Given the description of an element on the screen output the (x, y) to click on. 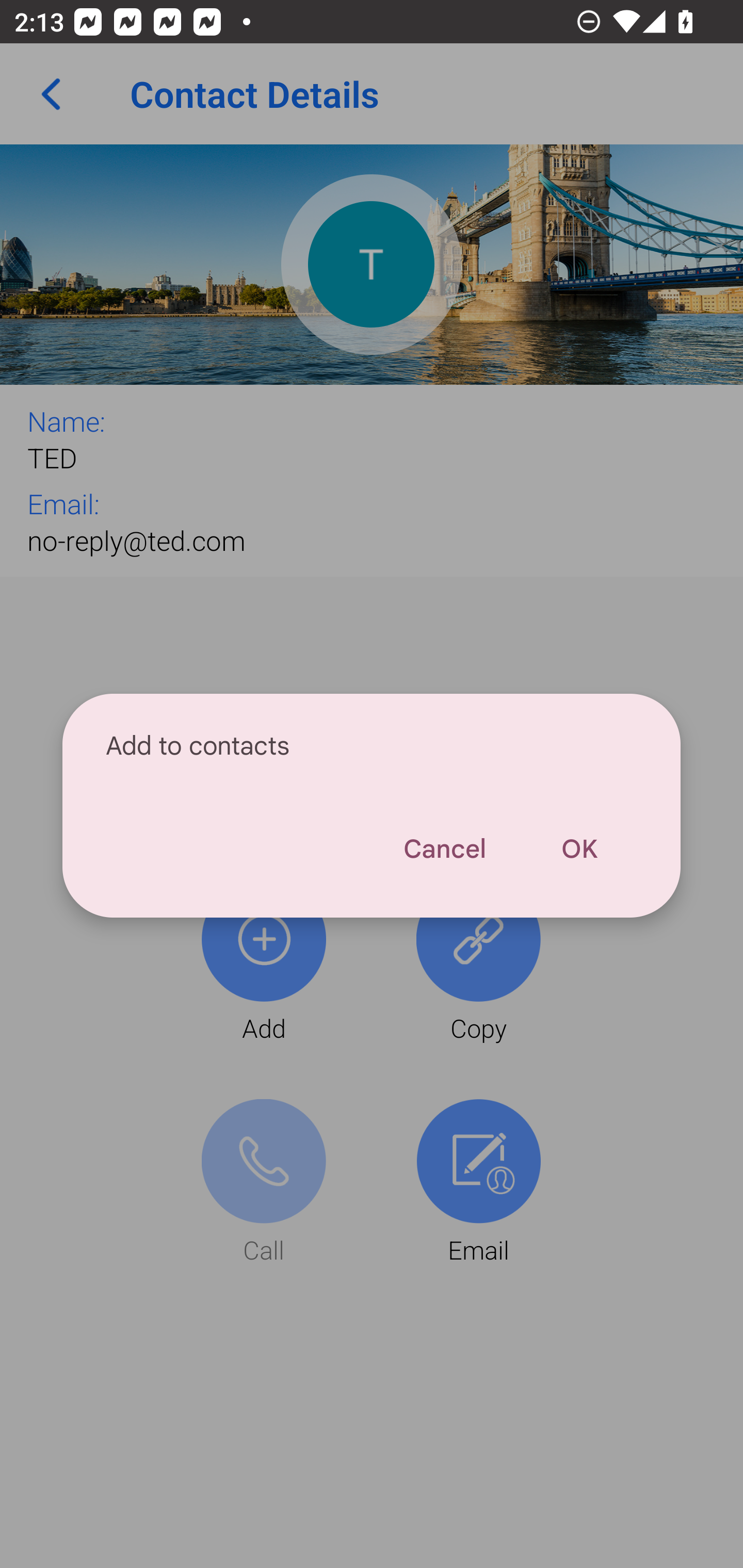
Cancel (444, 848)
OK (579, 848)
